Given the description of an element on the screen output the (x, y) to click on. 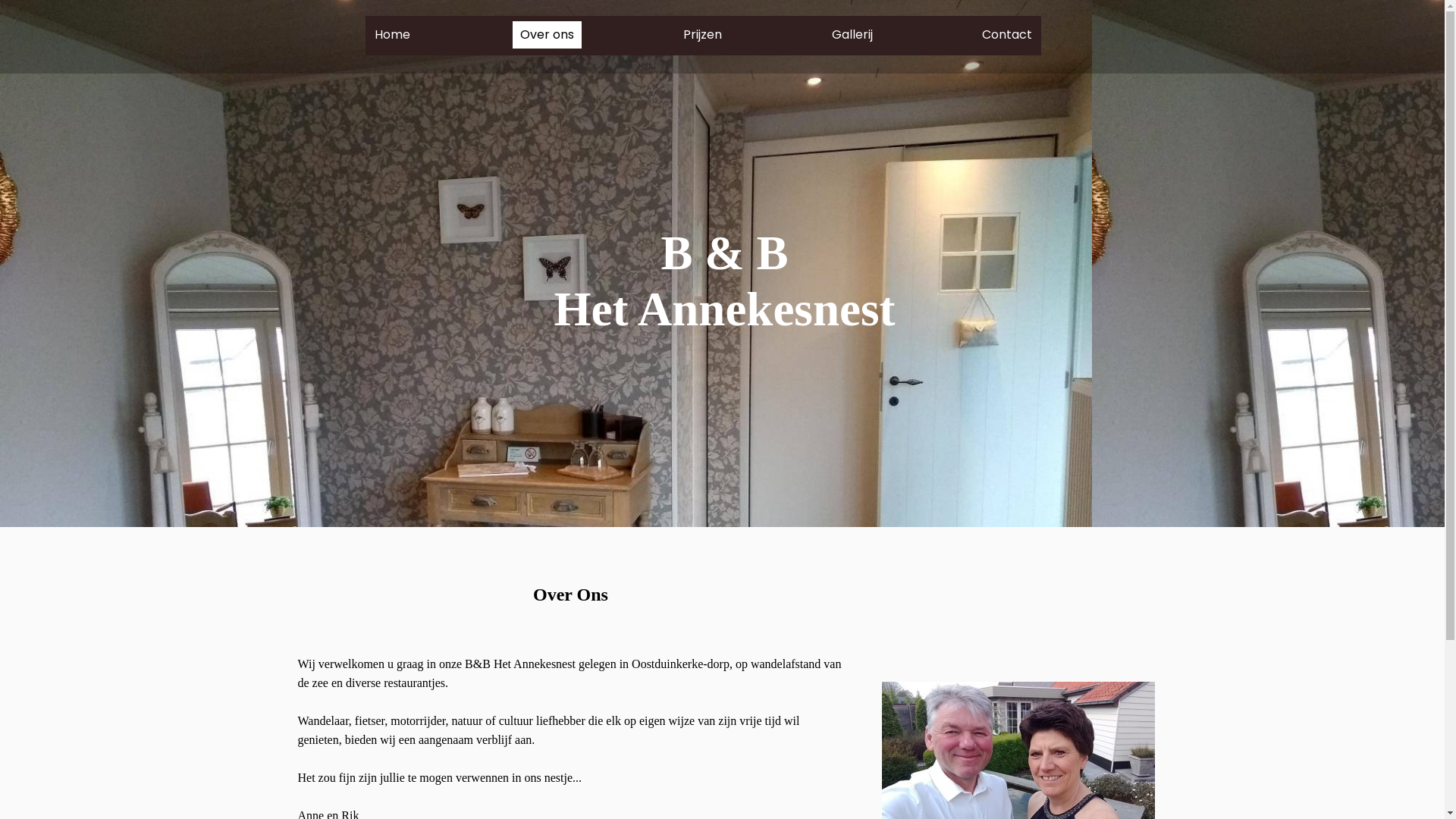
Prijzen Element type: text (702, 34)
Home Element type: text (392, 34)
Gallerij Element type: text (851, 34)
Contact Element type: text (1006, 34)
Over ons Element type: text (546, 34)
